Given the description of an element on the screen output the (x, y) to click on. 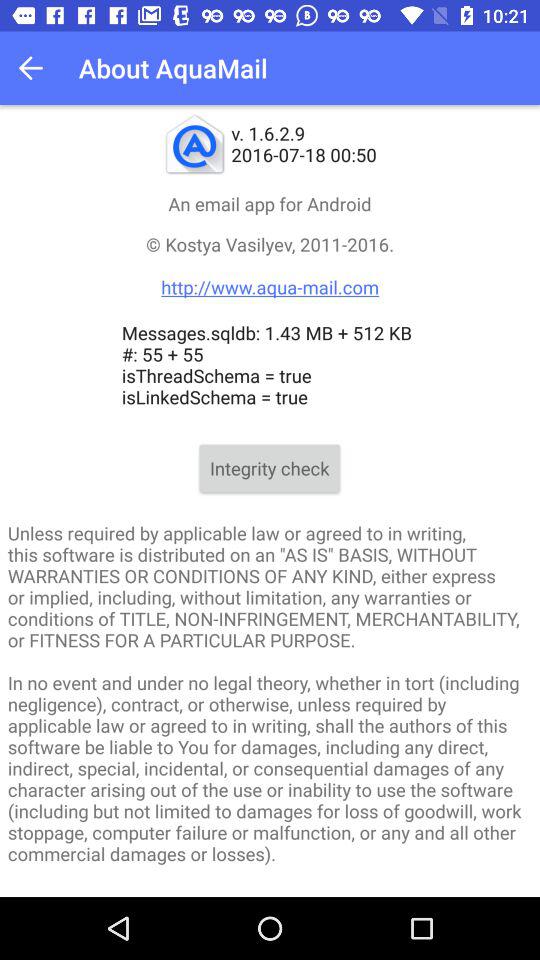
flip to kostya vasilyev 2011 app (269, 265)
